Given the description of an element on the screen output the (x, y) to click on. 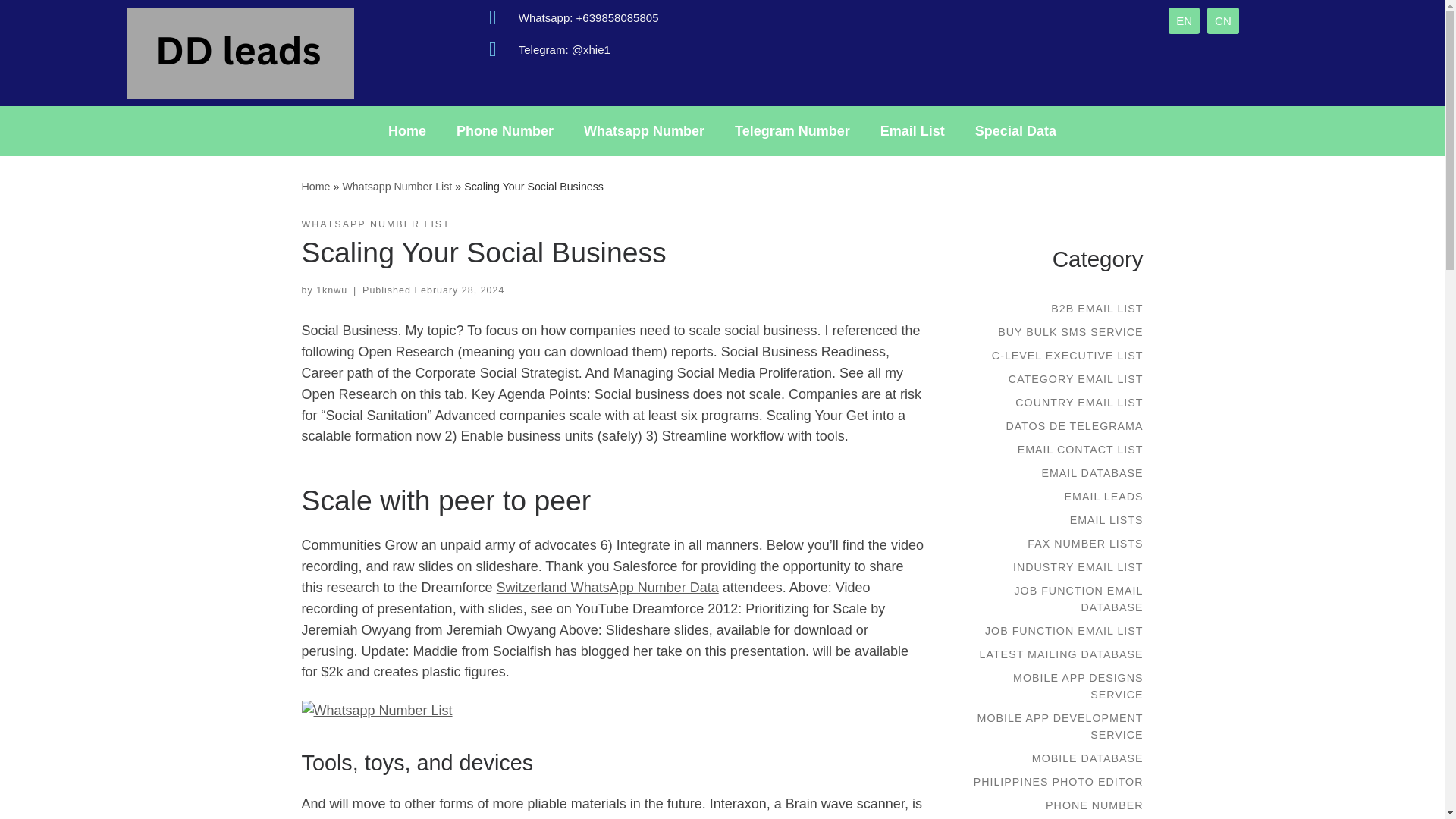
CN (1223, 20)
EN (1184, 20)
Whatsapp Number List (396, 186)
WHATSAPP NUMBER LIST (375, 224)
Whatsapp Number List (396, 186)
Whatsapp Number (644, 130)
View all posts in Whatsapp Number List (375, 224)
Special Data (1015, 130)
DD Leads (315, 186)
Phone Number (505, 130)
